Given the description of an element on the screen output the (x, y) to click on. 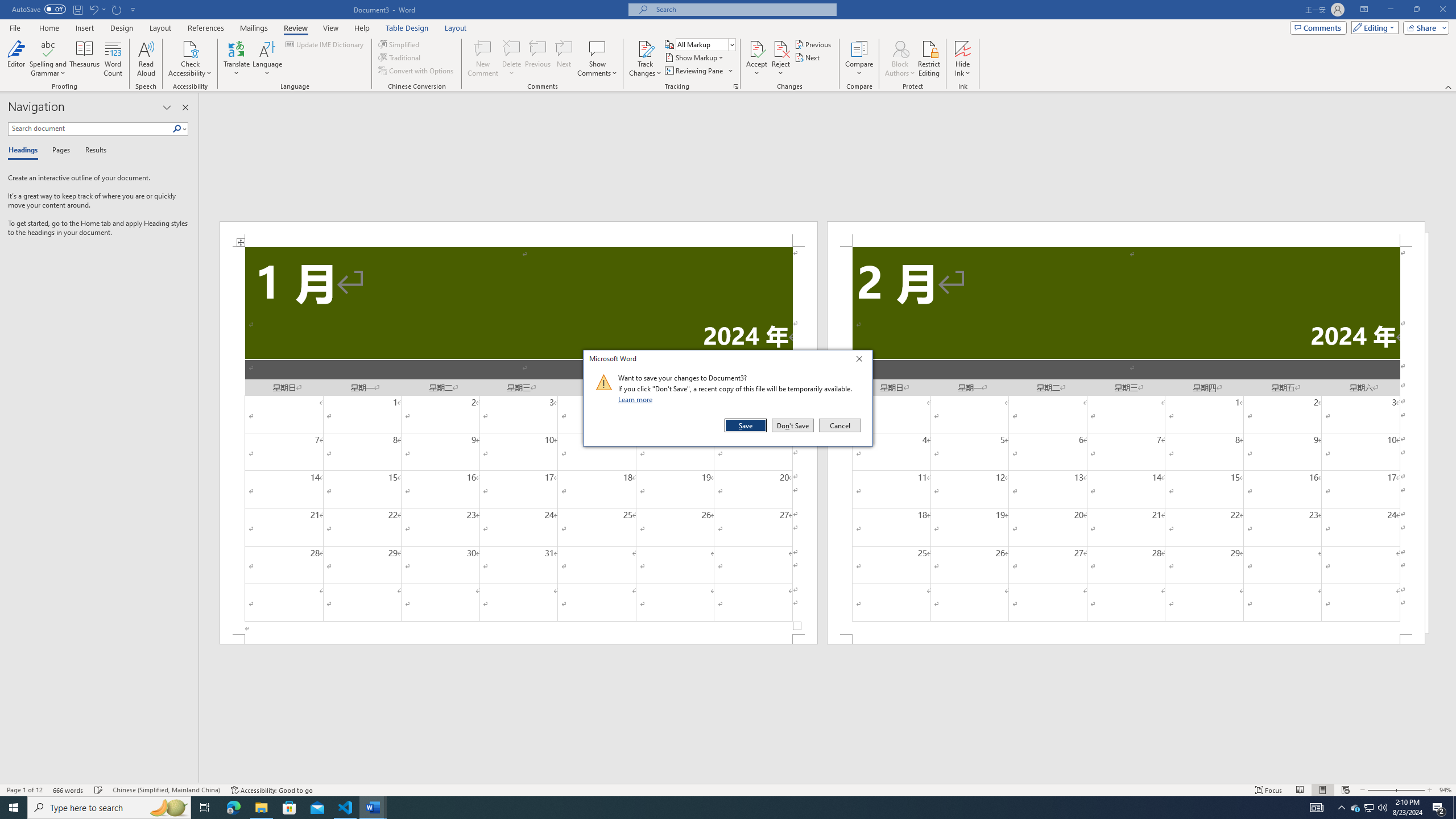
Headings (25, 150)
Mode (1372, 27)
Notification Chevron (1341, 807)
Display for Review (705, 44)
Header -Section 2- (1126, 233)
Visual Studio Code - 1 running window (345, 807)
Accept and Move to Next (756, 48)
Reject and Move to Next (780, 48)
Block Authors (900, 48)
Reviewing Pane (694, 69)
